Given the description of an element on the screen output the (x, y) to click on. 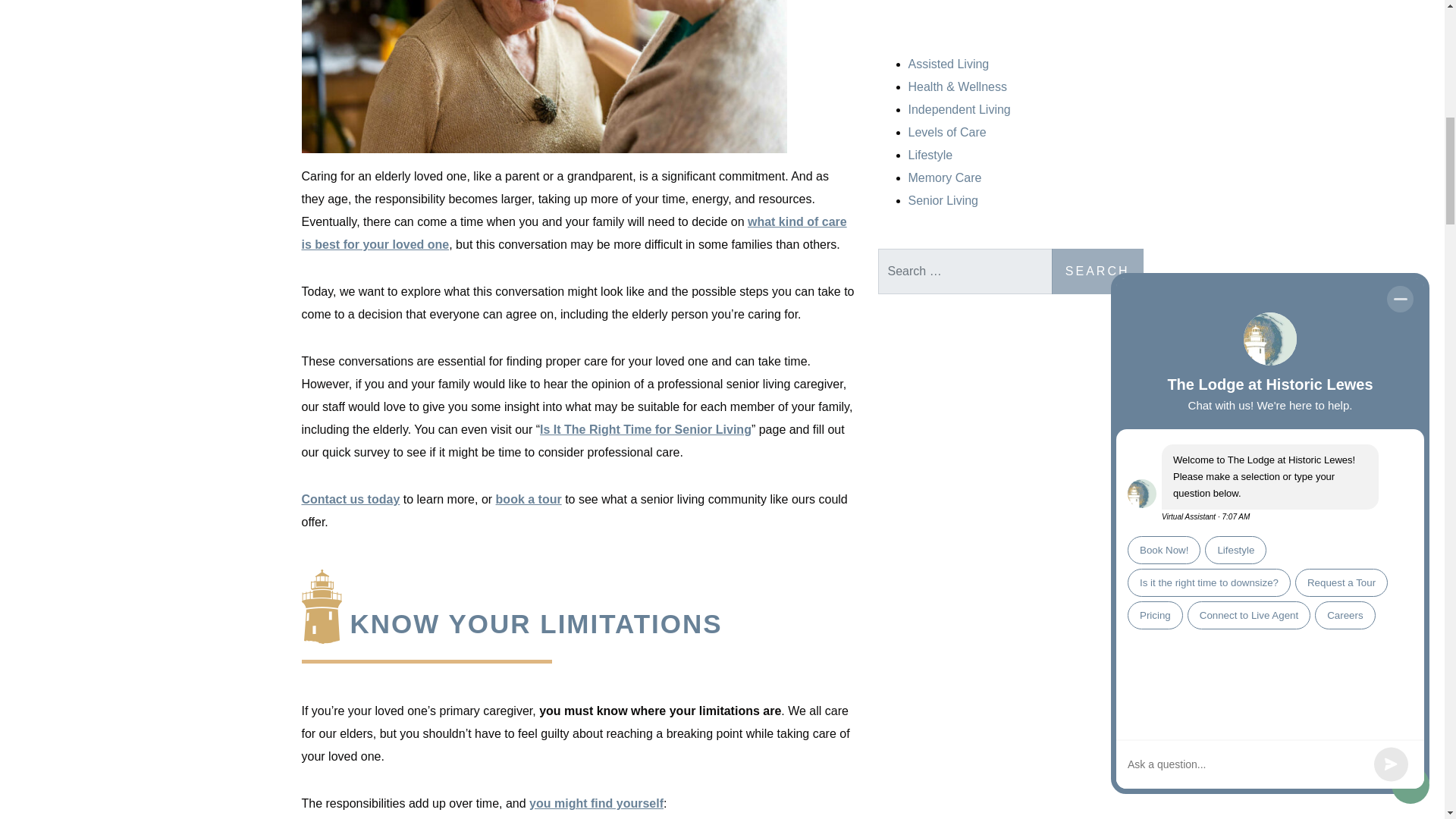
Contact us today (350, 499)
you might find yourself (596, 802)
Search (1096, 271)
Is It The Right Time for Senior Living (645, 429)
what kind of care is best for your loved one (574, 232)
book a tour (529, 499)
